Given the description of an element on the screen output the (x, y) to click on. 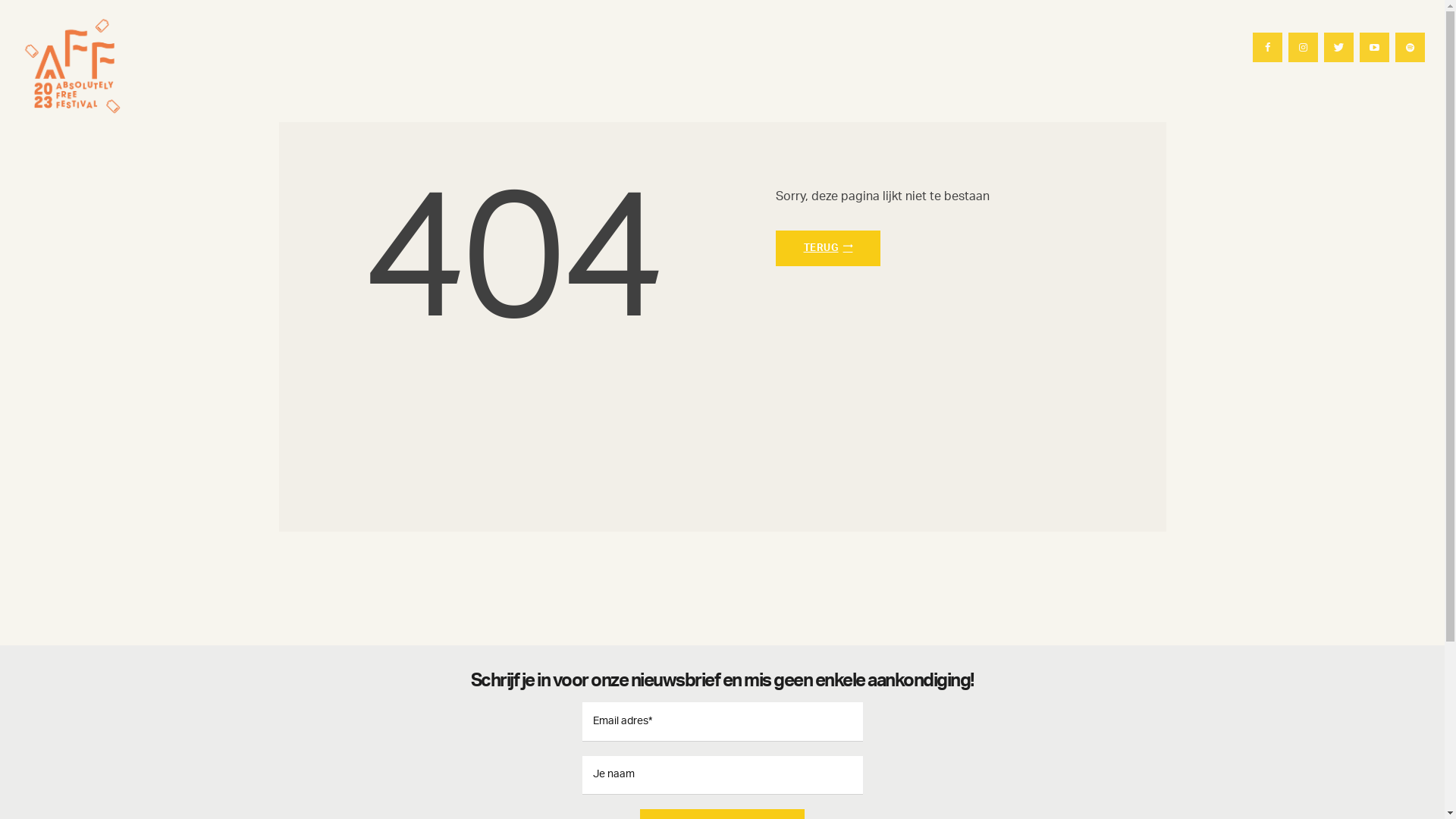
TERUG Element type: text (827, 248)
